Given the description of an element on the screen output the (x, y) to click on. 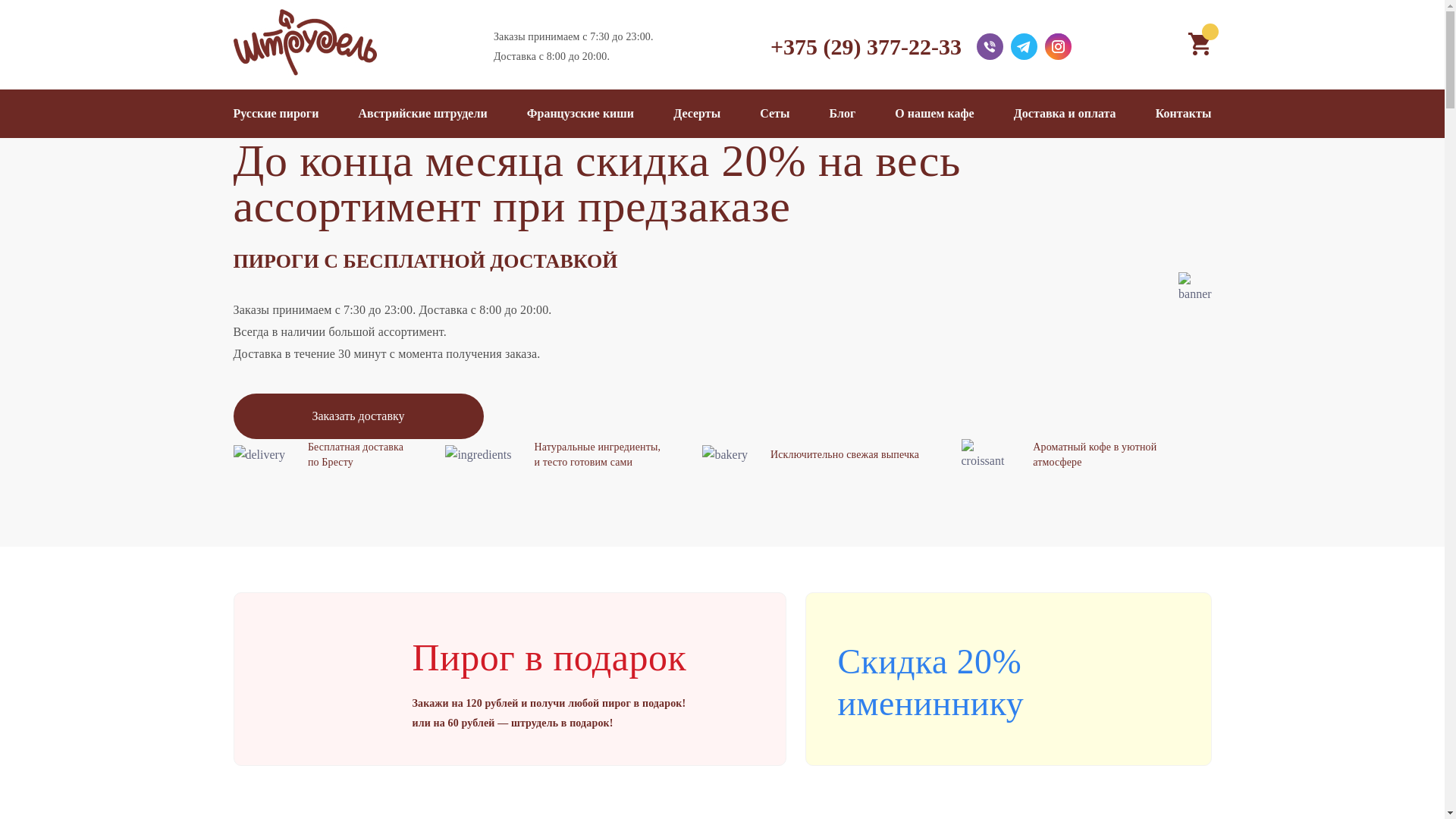
+375 (29) 377-22-33 Element type: text (865, 46)
